Given the description of an element on the screen output the (x, y) to click on. 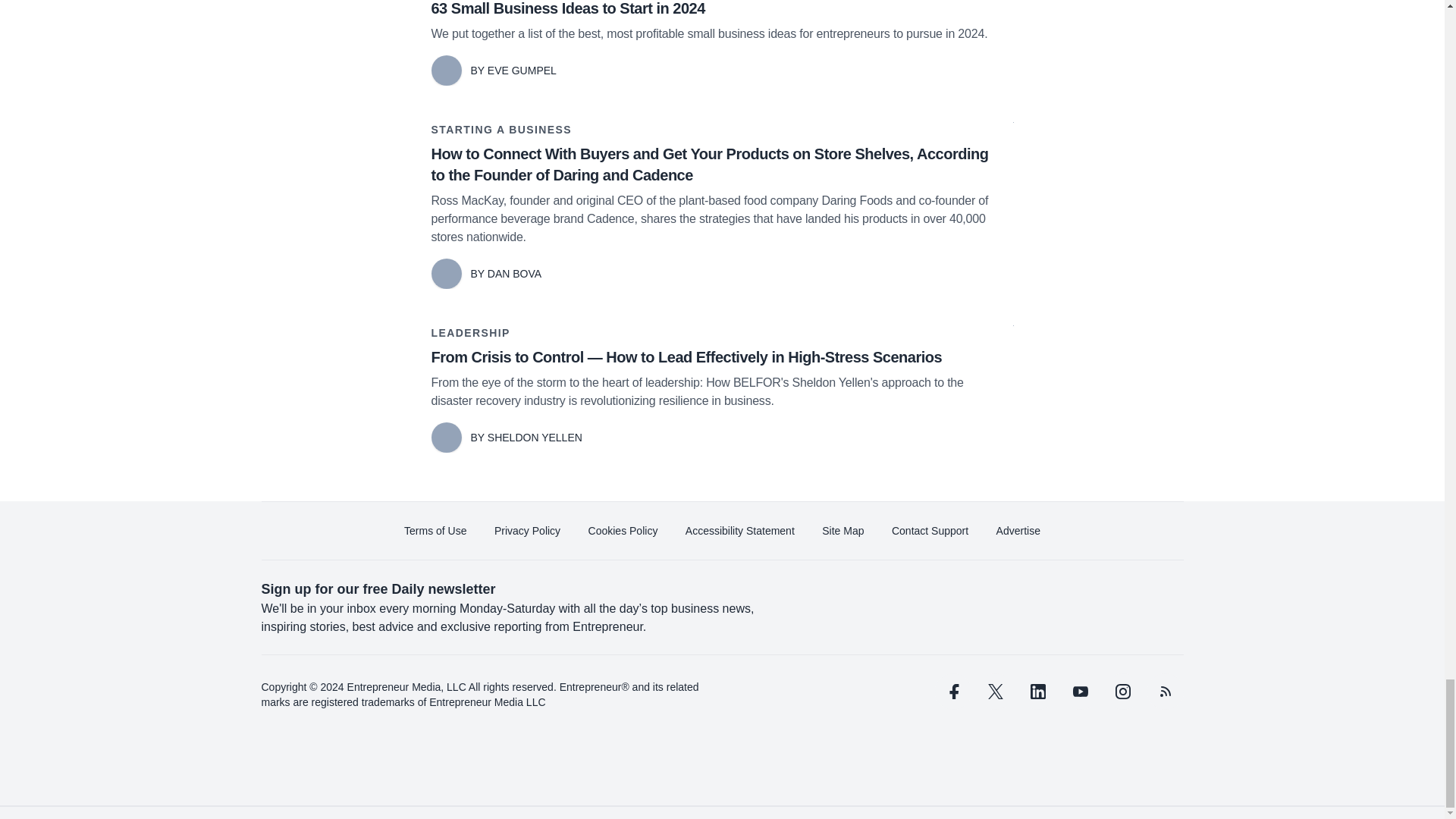
facebook (952, 691)
youtube (1079, 691)
instagram (1121, 691)
linkedin (1037, 691)
twitter (994, 691)
rss (1164, 691)
